Given the description of an element on the screen output the (x, y) to click on. 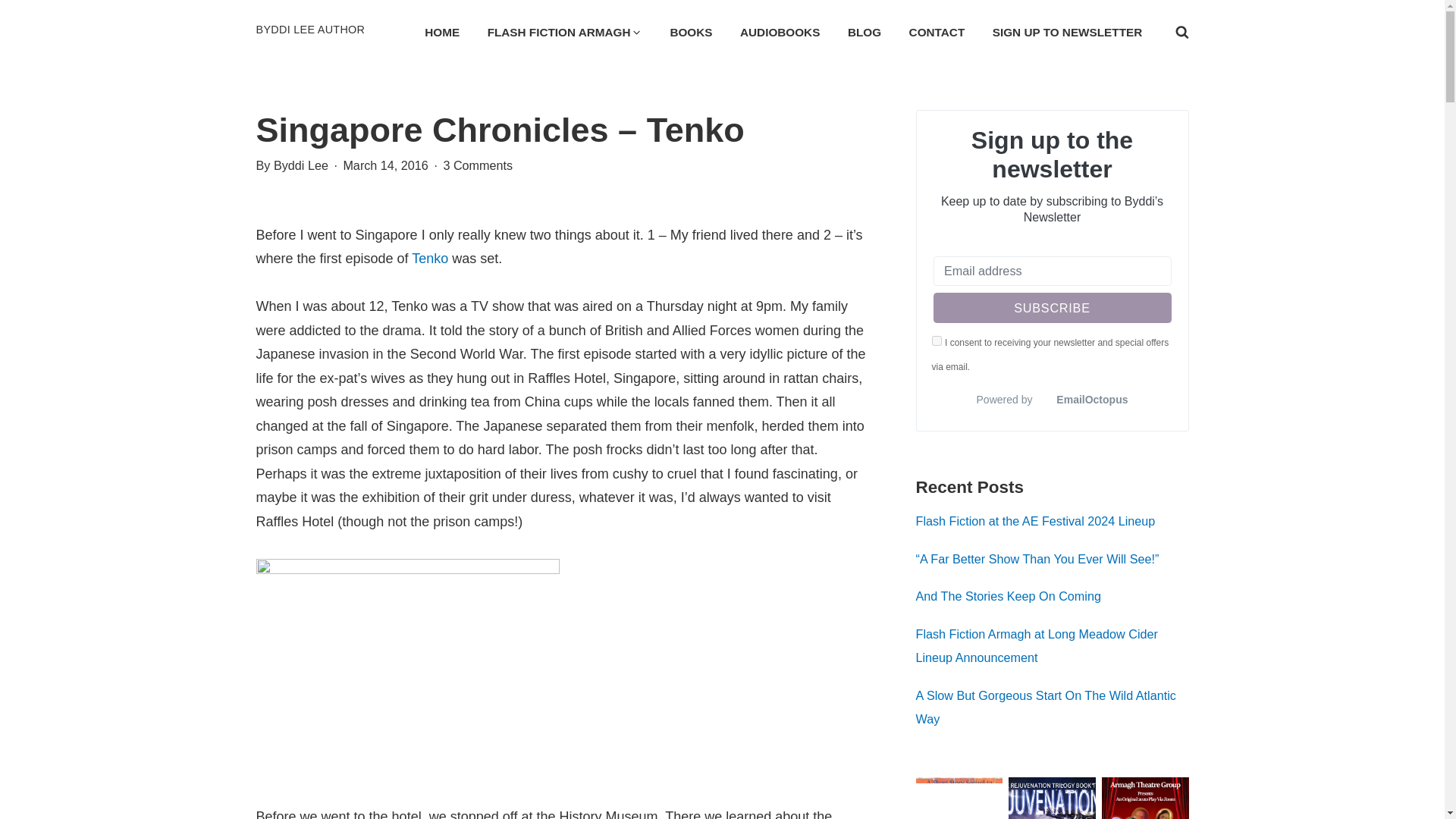
By Byddi Lee (293, 164)
FLASH FICTION ARMAGH (564, 32)
And The Stories Keep On Coming (1007, 595)
BLOG (864, 32)
AUDIOBOOKS (779, 32)
HOME (441, 32)
Tenko (430, 258)
BOOKS (691, 32)
Byddi Lee (321, 40)
